Given the description of an element on the screen output the (x, y) to click on. 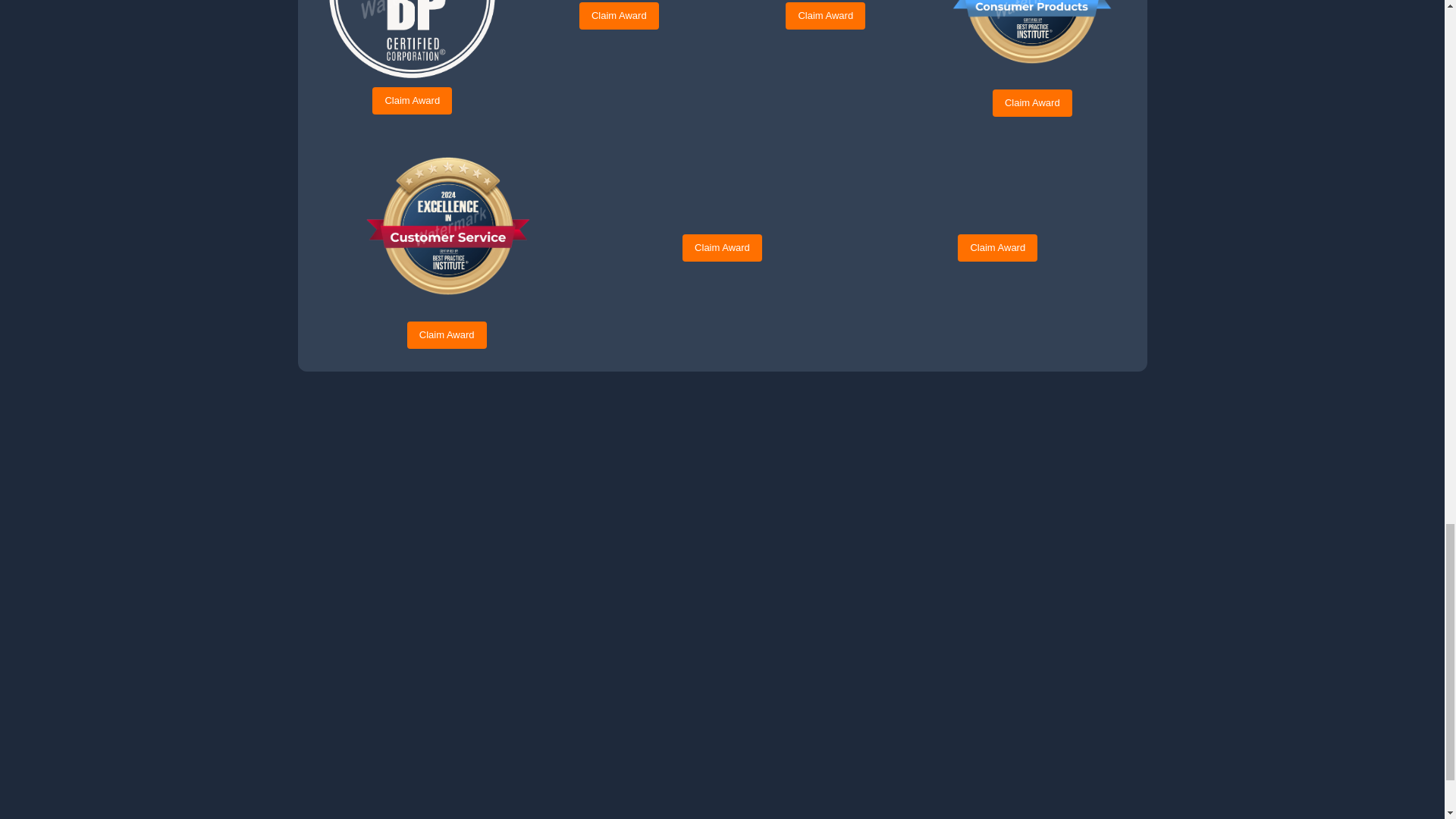
Claim Award (825, 15)
Claim Award (619, 15)
Claim Award (411, 100)
Claim Award (1031, 103)
